Given the description of an element on the screen output the (x, y) to click on. 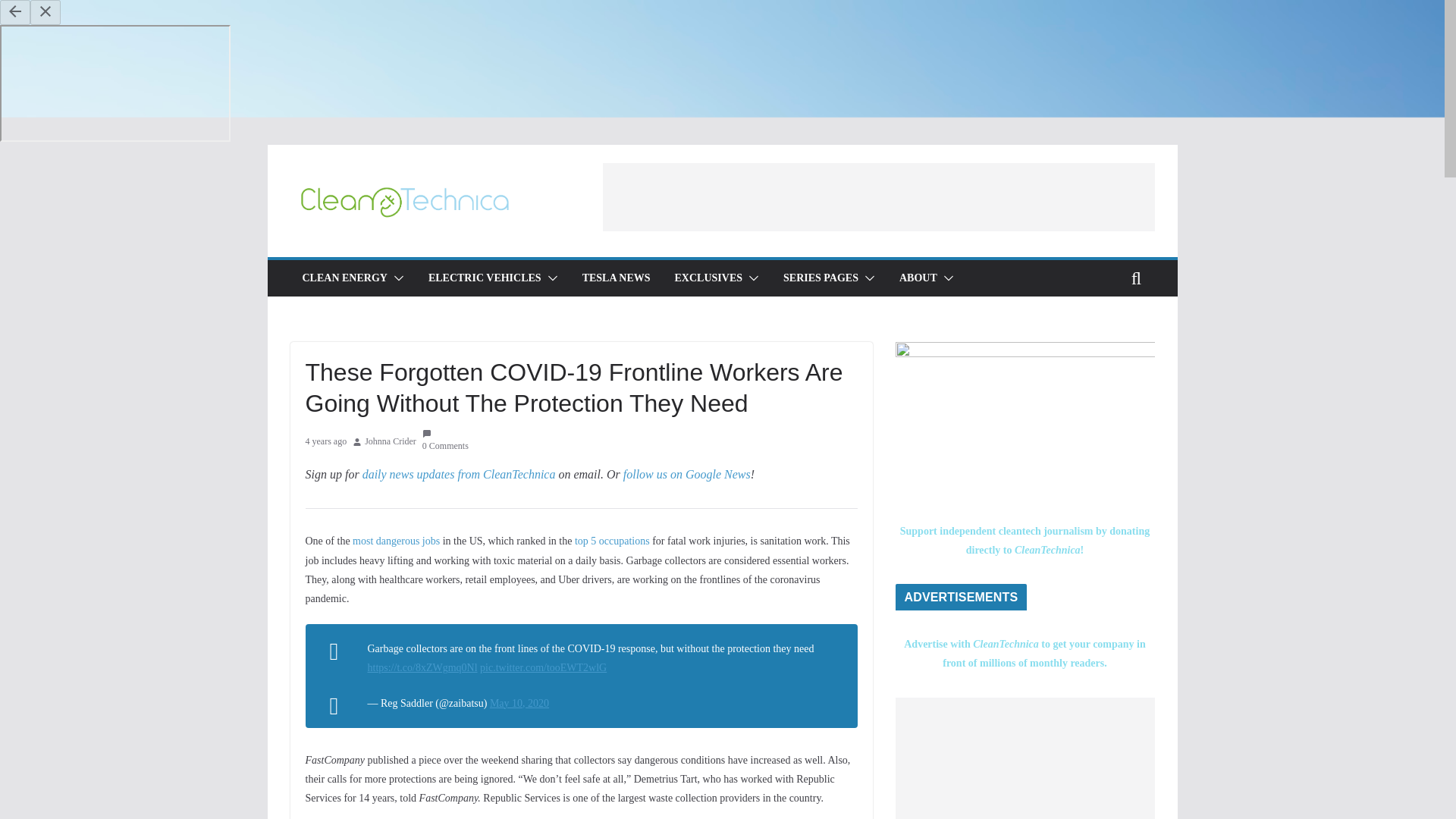
CLEAN ENERGY (344, 278)
Johnna Crider (390, 442)
ELECTRIC VEHICLES (484, 278)
SERIES PAGES (821, 278)
Advertisement (878, 196)
TESLA NEWS (616, 278)
EXCLUSIVES (708, 278)
